Given the description of an element on the screen output the (x, y) to click on. 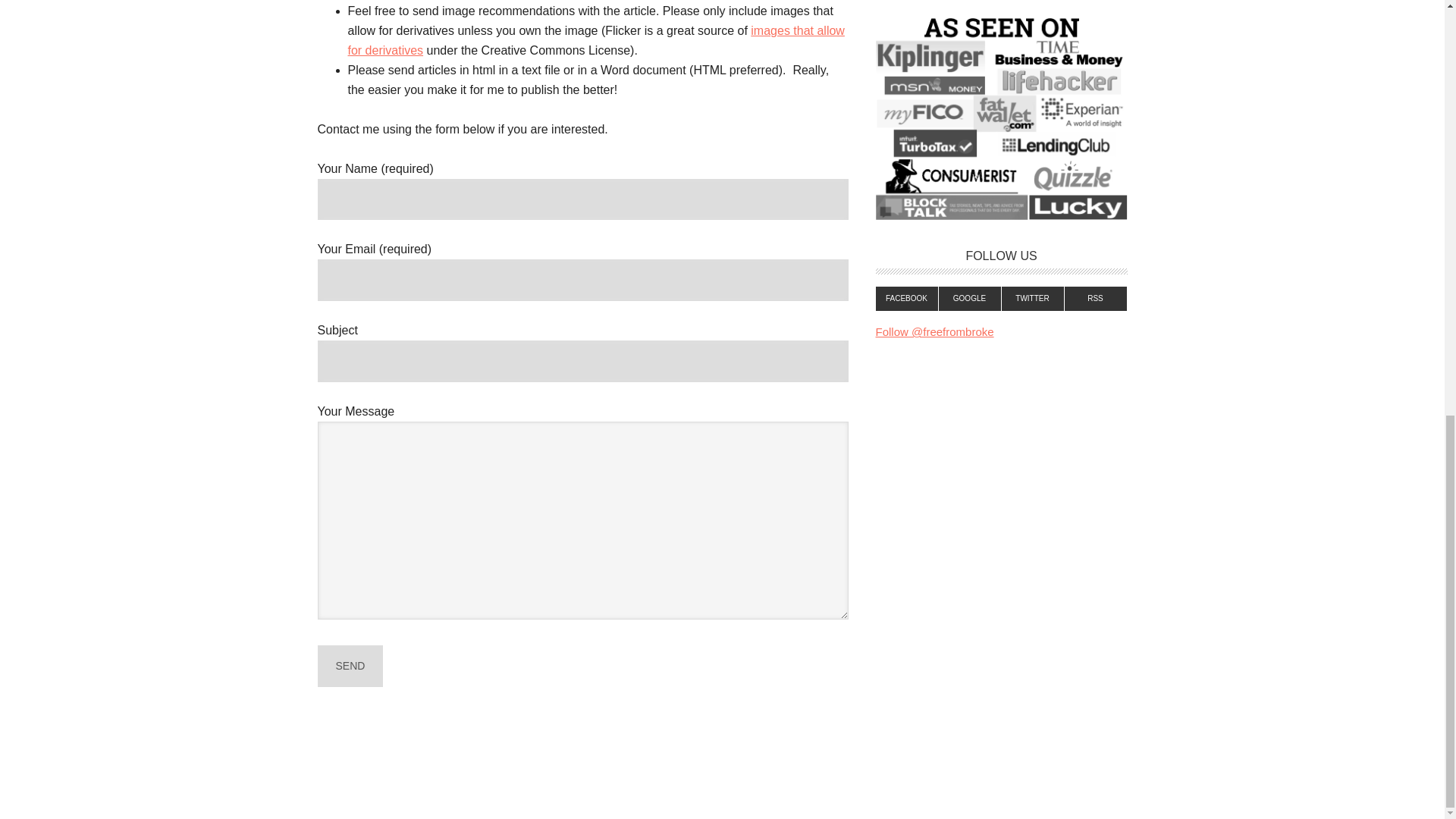
GOOGLE (970, 298)
images that allow for derivatives (595, 40)
TWITTER (1032, 298)
Send (349, 666)
Send (349, 666)
FACEBOOK (906, 298)
RSS (1095, 298)
